Given the description of an element on the screen output the (x, y) to click on. 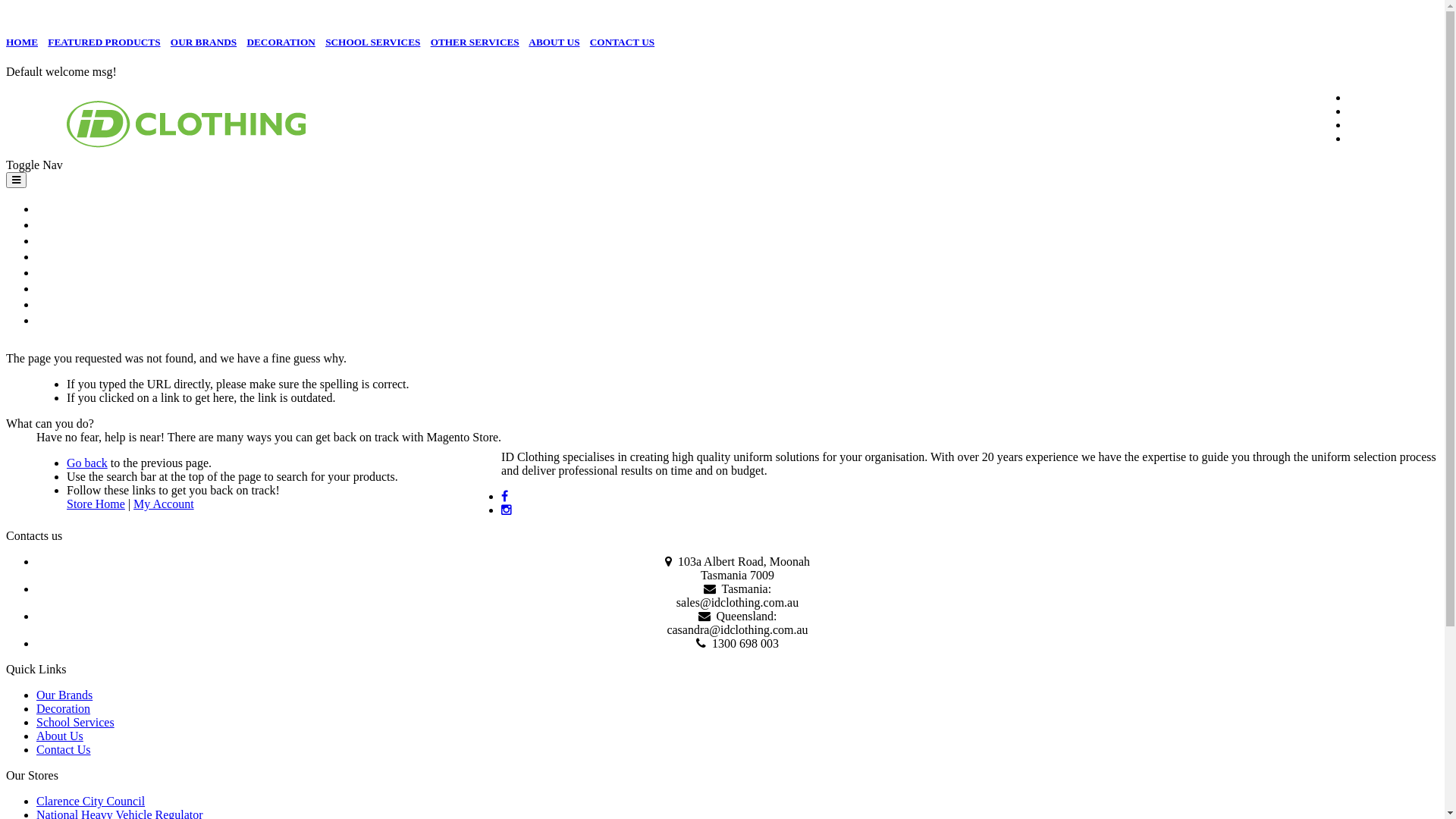
DECORATION Element type: text (280, 41)
Decoration Element type: text (63, 708)
OUR BRANDS Element type: text (61, 239)
  Element type: text (507, 509)
Create an Account Element type: text (1392, 124)
ABOUT US Element type: text (553, 41)
CONTACT US Element type: text (621, 41)
OUR BRANDS Element type: text (203, 41)
Compare Products Element type: text (1393, 97)
SCHOOL SERVICES Element type: text (372, 41)
Go back Element type: text (86, 462)
Contact Us Element type: text (63, 749)
Clarence City Council Element type: text (90, 800)
My Account Element type: text (163, 503)
CONTACT US Element type: text (60, 319)
ABOUT US Element type: text (56, 303)
FEATURED PRODUCTS Element type: text (78, 224)
About Us Element type: text (59, 735)
DECORATION Element type: text (60, 255)
FEATURED PRODUCTS Element type: text (103, 41)
Sign In Element type: text (1365, 137)
OTHER SERVICES Element type: text (69, 287)
School Services Element type: text (75, 721)
Store Home Element type: text (95, 503)
  Element type: text (506, 495)
HOME Element type: text (21, 41)
SCHOOL SERVICES Element type: text (72, 271)
OTHER SERVICES Element type: text (474, 41)
HOME Element type: text (47, 208)
Our Brands Element type: text (64, 694)
My Account Element type: text (1378, 110)
